Given the description of an element on the screen output the (x, y) to click on. 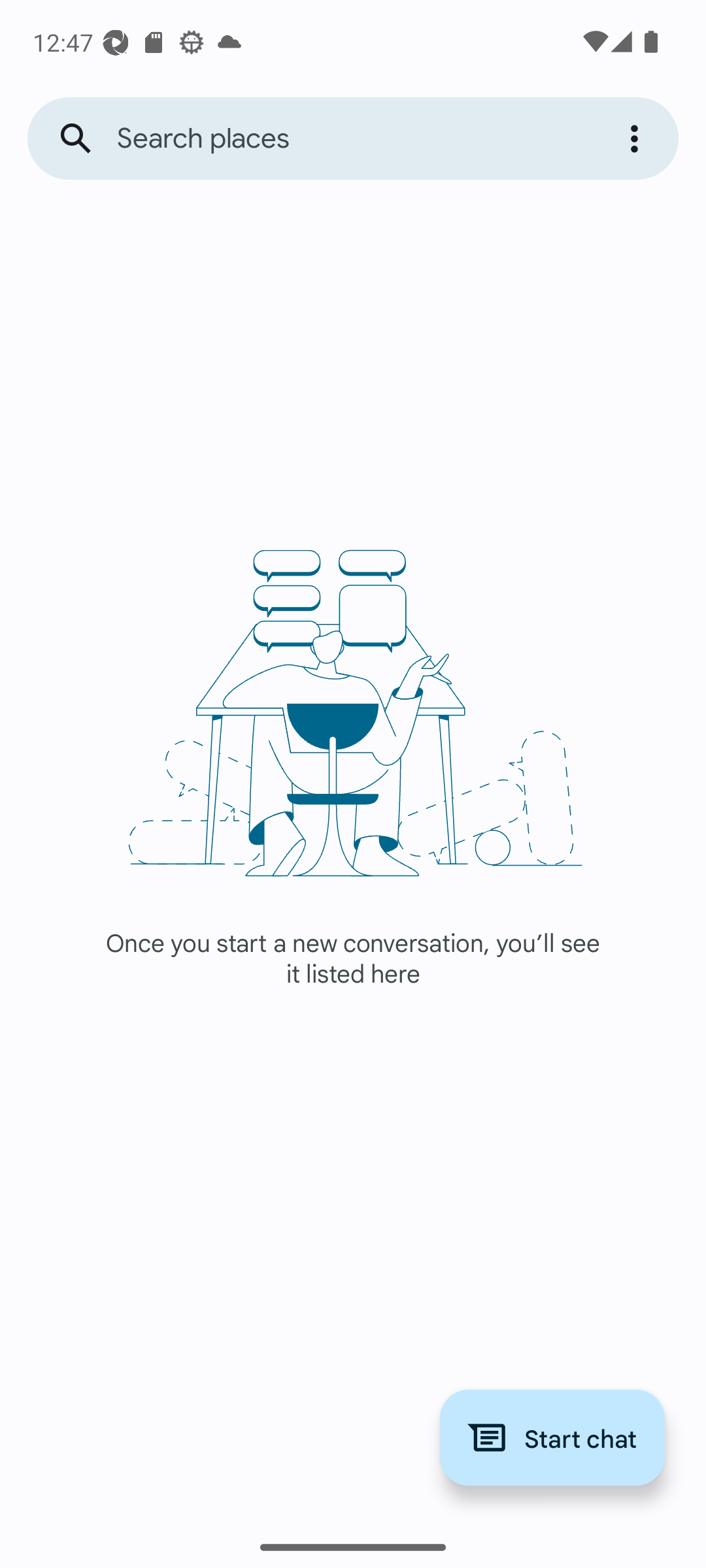
Navigate up (75, 138)
More options (636, 138)
Start chat (552, 1437)
